Given the description of an element on the screen output the (x, y) to click on. 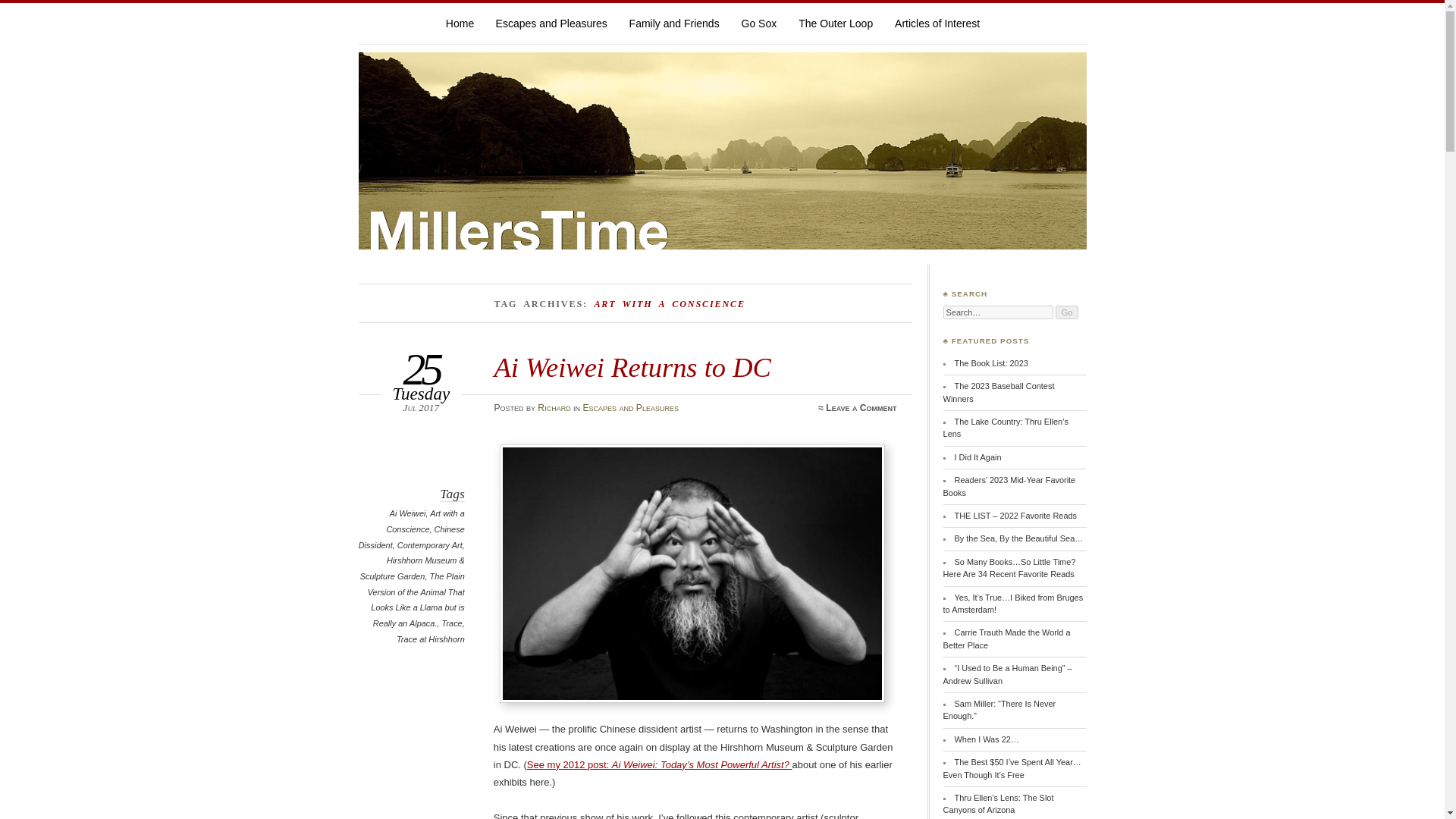
View all posts by Richard (553, 407)
Misc (937, 23)
Home (459, 23)
Escapes and Pleasures (551, 23)
Carrie Trauth Made the World a Better Place (1006, 638)
The Book List: 2023 (991, 362)
Permanent Link: I Did It Again (978, 456)
Permanent Link: The 2023 Baseball Contest Winners (998, 391)
Go Sox (759, 23)
Leave a Comment (860, 407)
Permanent Link: The Book List: 2023 (991, 362)
Trace (452, 623)
I Did It Again (978, 456)
Richard (553, 407)
